Given the description of an element on the screen output the (x, y) to click on. 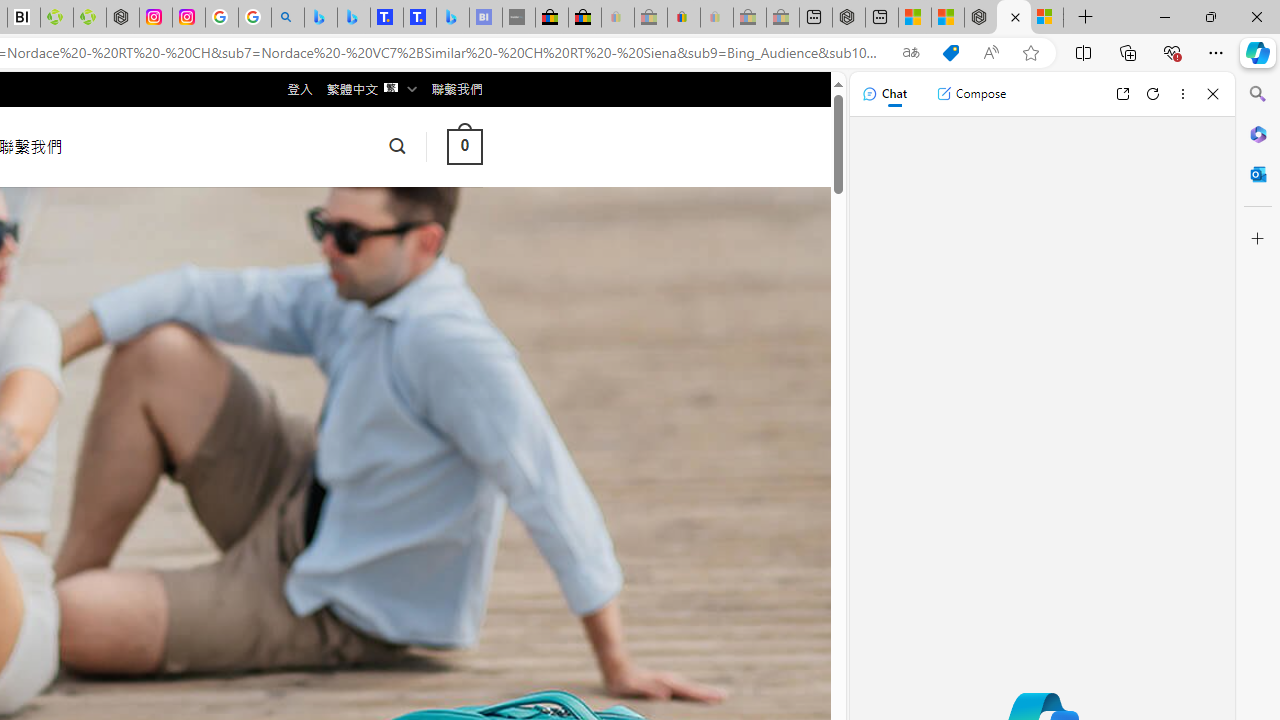
This site has coupons! Shopping in Microsoft Edge (950, 53)
Nordace - Nordace Edin Collection (123, 17)
Shangri-La Bangkok, Hotel reviews and Room rates (420, 17)
 0  (464, 146)
Press Room - eBay Inc. - Sleeping (749, 17)
Microsoft Bing Travel - Stays in Bangkok, Bangkok, Thailand (353, 17)
The importance of being lazy (947, 17)
Sign in to your Microsoft account (1046, 17)
